Given the description of an element on the screen output the (x, y) to click on. 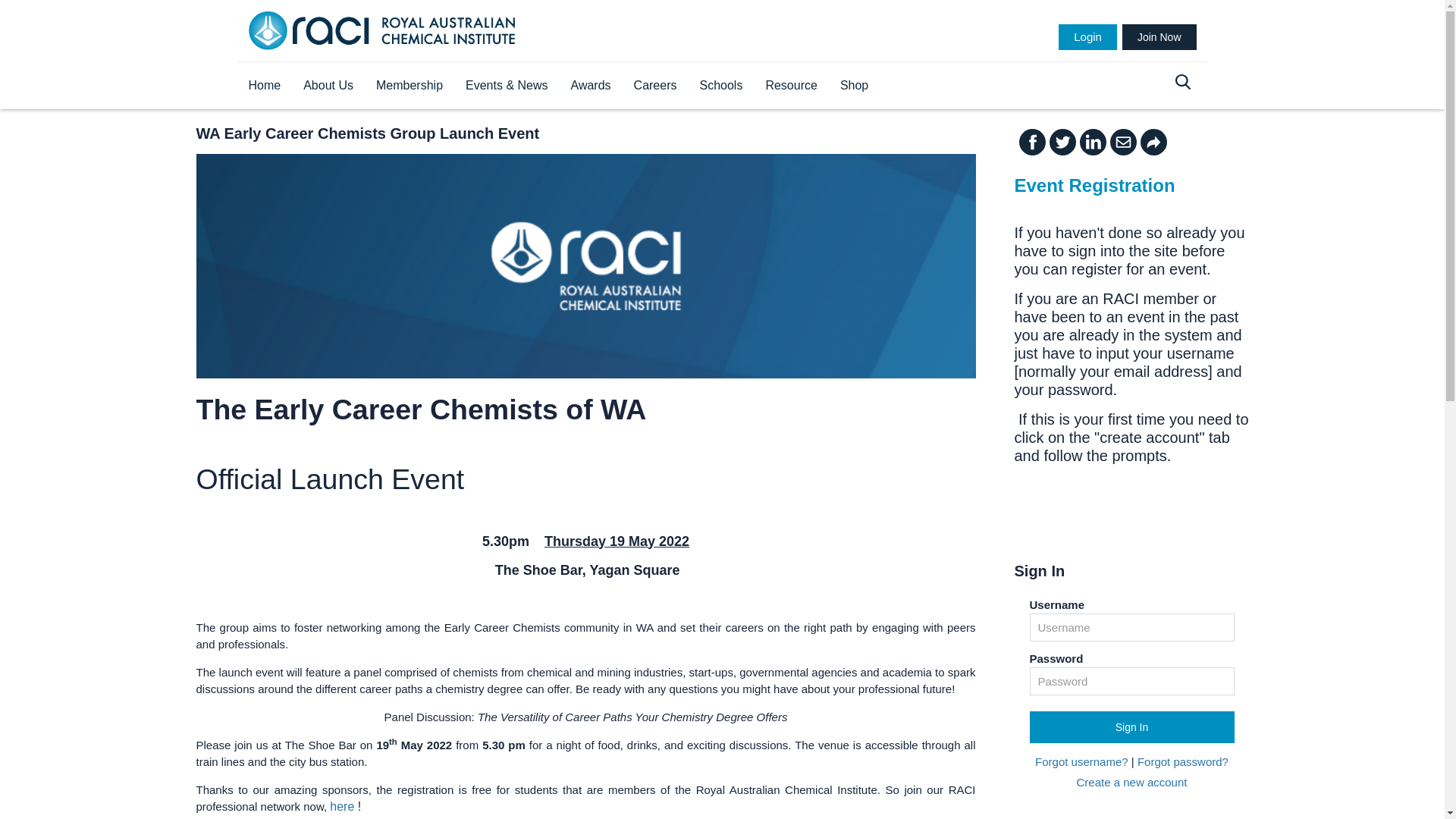
Share on Twitter Element type: text (1064, 141)
Email Element type: text (1125, 141)
Resource Element type: text (790, 85)
Events & News Element type: text (506, 85)
Careers Element type: text (655, 85)
Membership Element type: text (409, 85)
Awards Element type: text (590, 85)
here Element type: text (341, 806)
Create a new account Element type: text (1131, 781)
Forgot password? Element type: text (1182, 761)
Forgot username? Element type: text (1081, 761)
Schools Element type: text (720, 85)
Share on Facebook Element type: text (1034, 141)
Refresh Element type: text (23, 10)
More options Element type: text (1155, 141)
Home Element type: text (263, 85)
  Element type: text (5, 10)
Shop Element type: text (853, 85)
Share on LinkedIn Element type: text (1094, 141)
Join Now Element type: text (1159, 37)
RACI Element type: text (381, 30)
Sign In Element type: text (1131, 727)
About Us Element type: text (327, 85)
Go Element type: text (37, 15)
Login Element type: text (1087, 37)
